Given the description of an element on the screen output the (x, y) to click on. 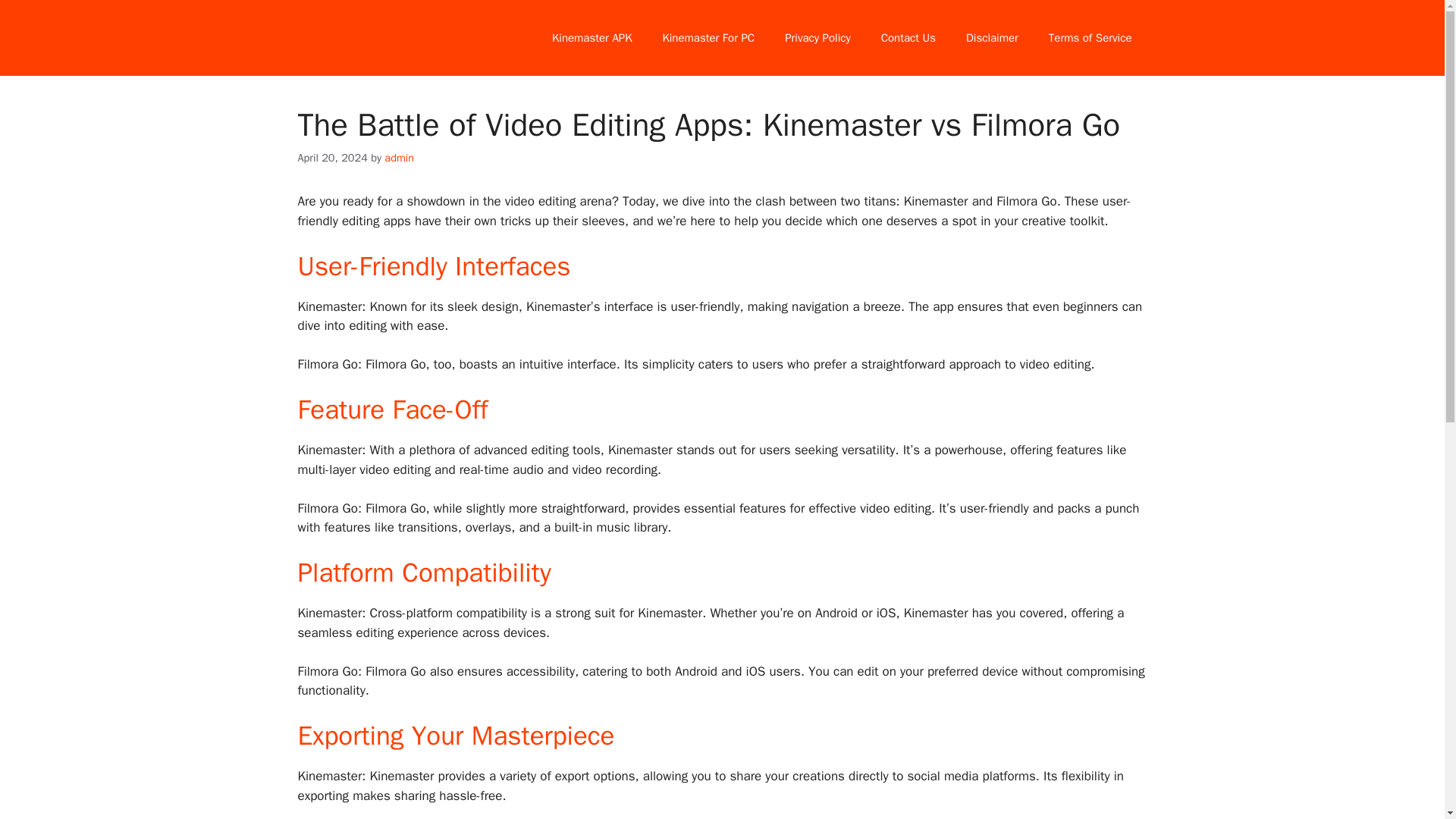
admin (398, 157)
Privacy Policy (818, 37)
Kinemaster For PC (708, 37)
Contact Us (908, 37)
Disclaimer (991, 37)
Kinemaster APK (591, 37)
Terms of Service (1090, 37)
View all posts by admin (398, 157)
